Given the description of an element on the screen output the (x, y) to click on. 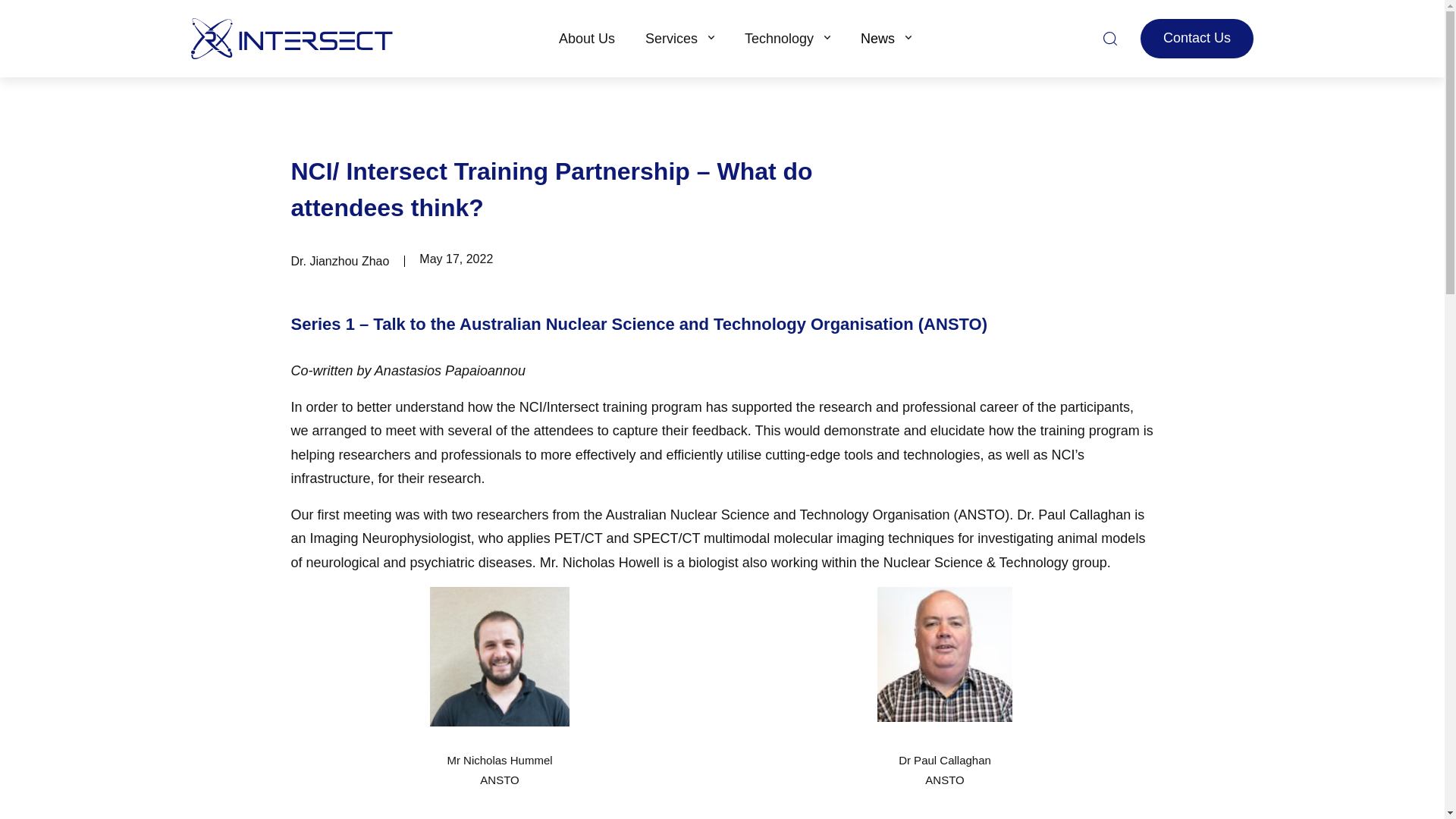
Services (679, 38)
intersect (291, 38)
May 17, 2022 (456, 258)
Technology (786, 38)
Contact Us (1196, 38)
